Given the description of an element on the screen output the (x, y) to click on. 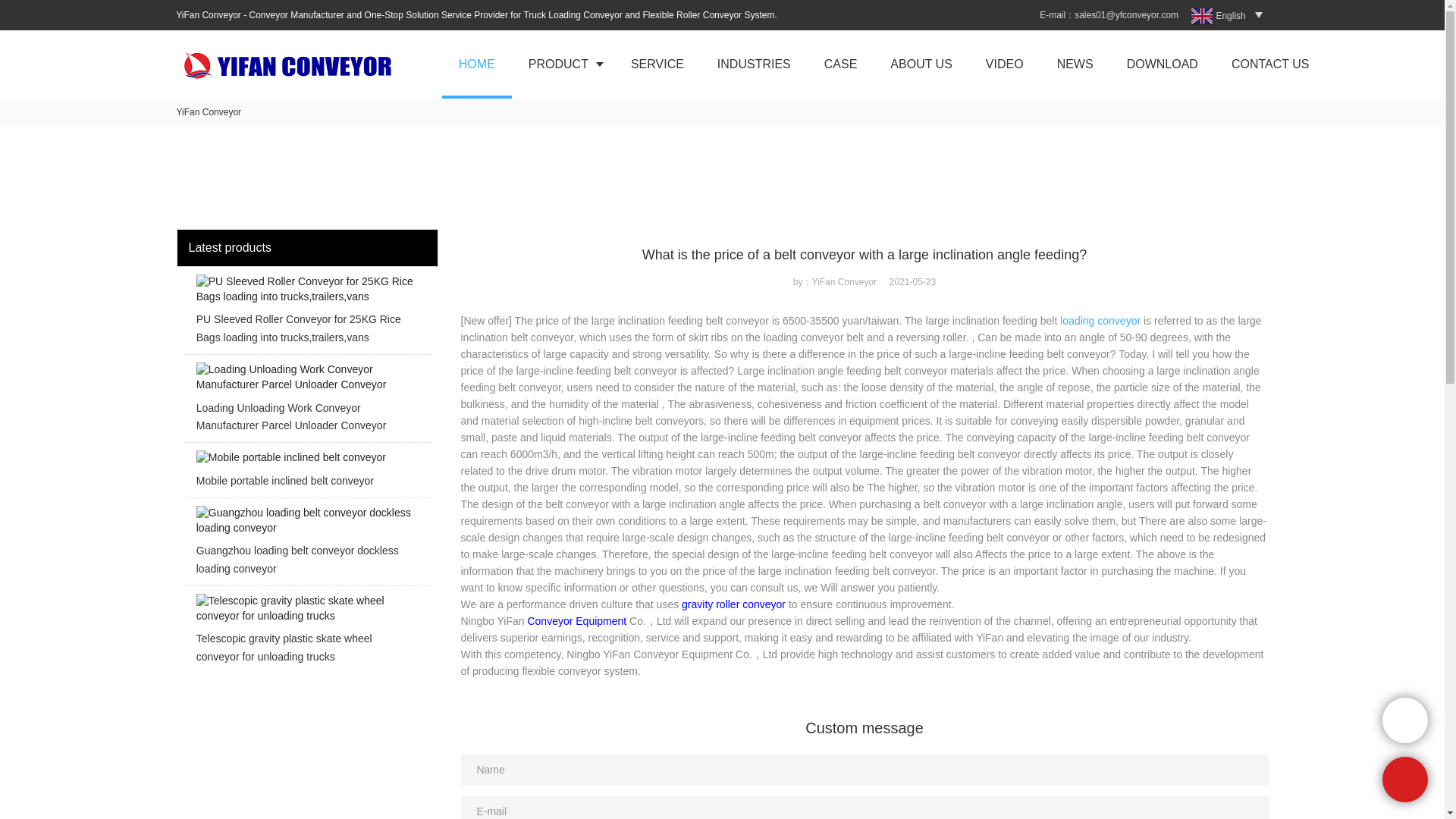
VIDEO (1005, 64)
Mobile portable inclined belt conveyor (306, 473)
NEWS (1075, 64)
ABOUT US (921, 64)
Guangzhou loading belt conveyor dockless loading conveyor (306, 545)
PRODUCT (563, 64)
DOWNLOAD (1161, 64)
YiFan Conveyor (208, 112)
